Given the description of an element on the screen output the (x, y) to click on. 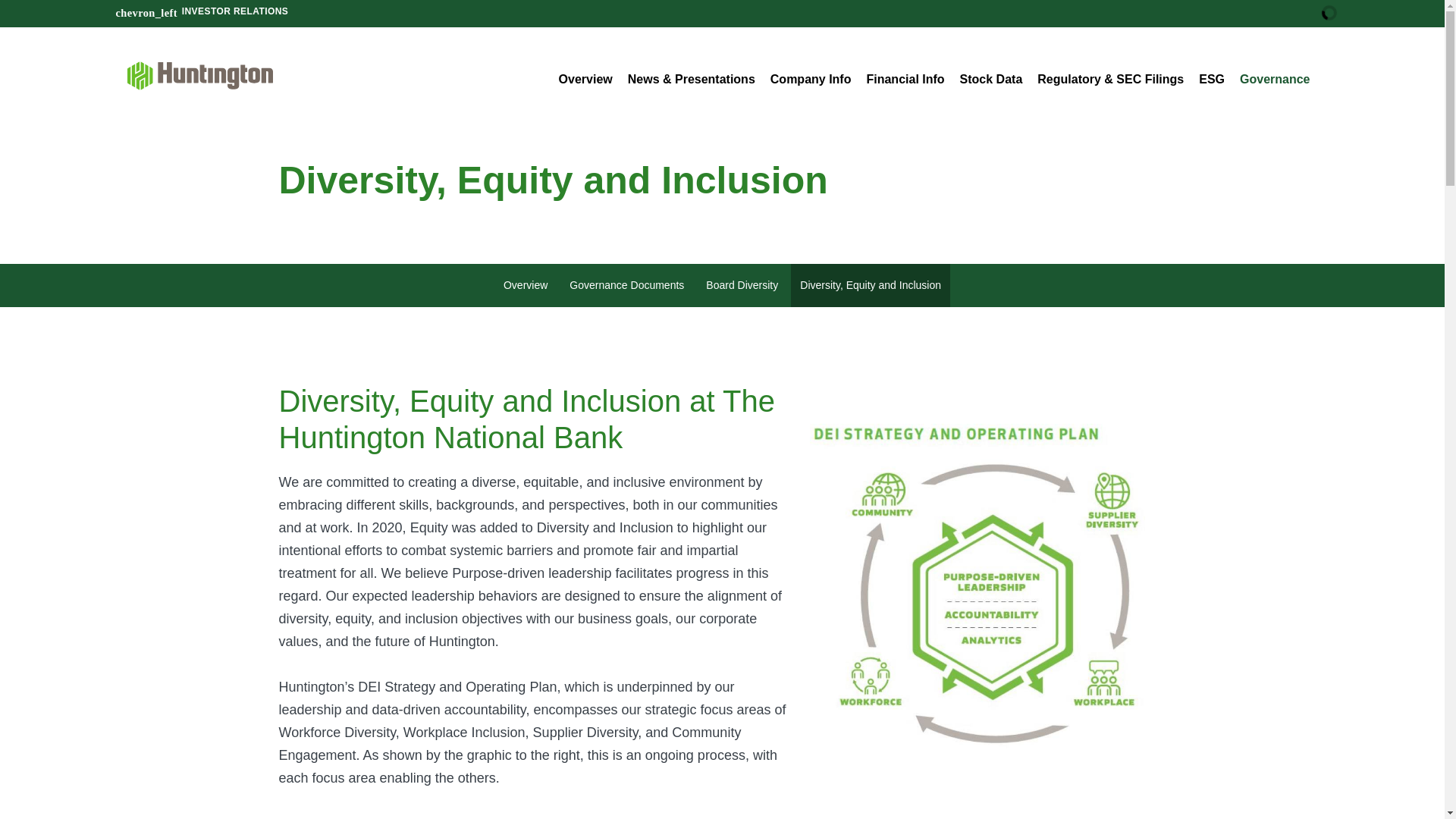
Company Info (810, 90)
INVESTOR RELATIONS (201, 9)
Financial Info (905, 90)
Overview (585, 90)
Stock Data (991, 90)
